Given the description of an element on the screen output the (x, y) to click on. 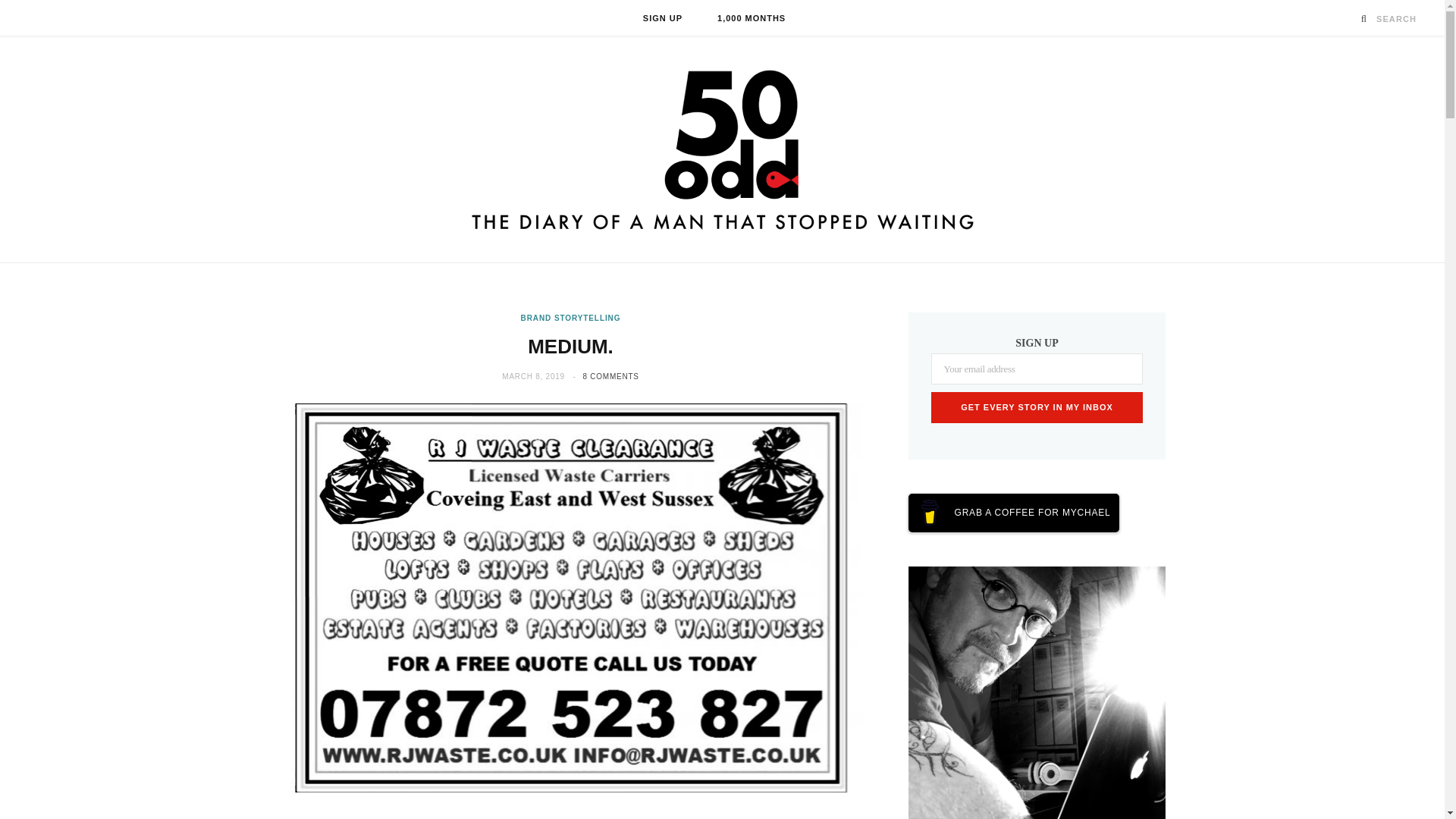
50odd (722, 149)
8 COMMENTS (611, 376)
Get every story in my inbox (1036, 407)
BRAND STORYTELLING (571, 317)
1,000 MONTHS (751, 18)
SIGN UP (662, 18)
MARCH 8, 2019 (534, 376)
